Given the description of an element on the screen output the (x, y) to click on. 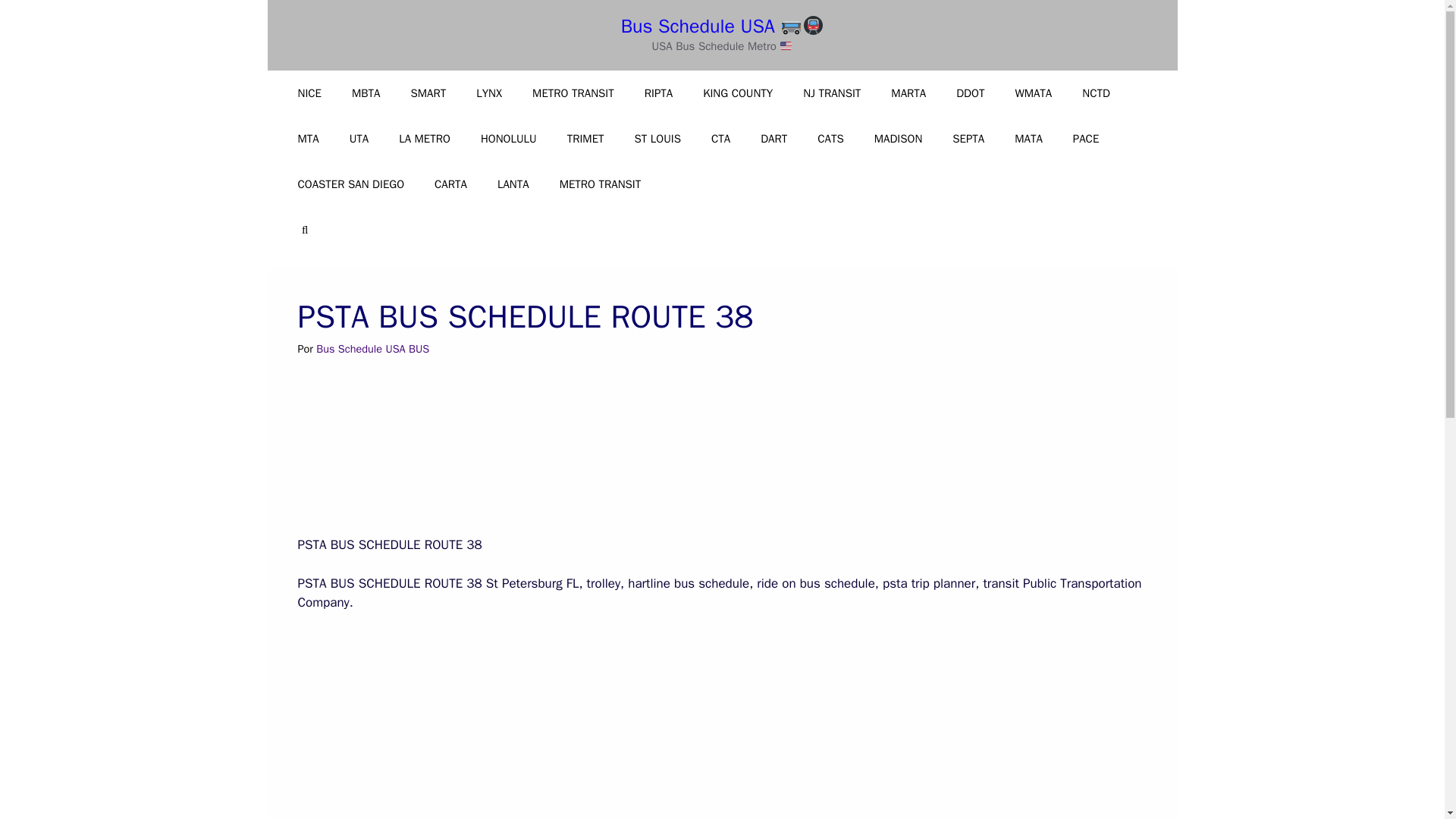
KING COUNTY (737, 92)
MBTA (365, 92)
PACE (1085, 137)
RIPTA (657, 92)
NCTD (1096, 92)
MTA (307, 137)
WMATA (1032, 92)
LANTA (512, 183)
Bus Schedule USA (722, 25)
METRO TRANSIT (600, 183)
DART (773, 137)
MADISON (898, 137)
SEPTA (967, 137)
TRIMET (585, 137)
Bus Schedule USA BUS (372, 348)
